Given the description of an element on the screen output the (x, y) to click on. 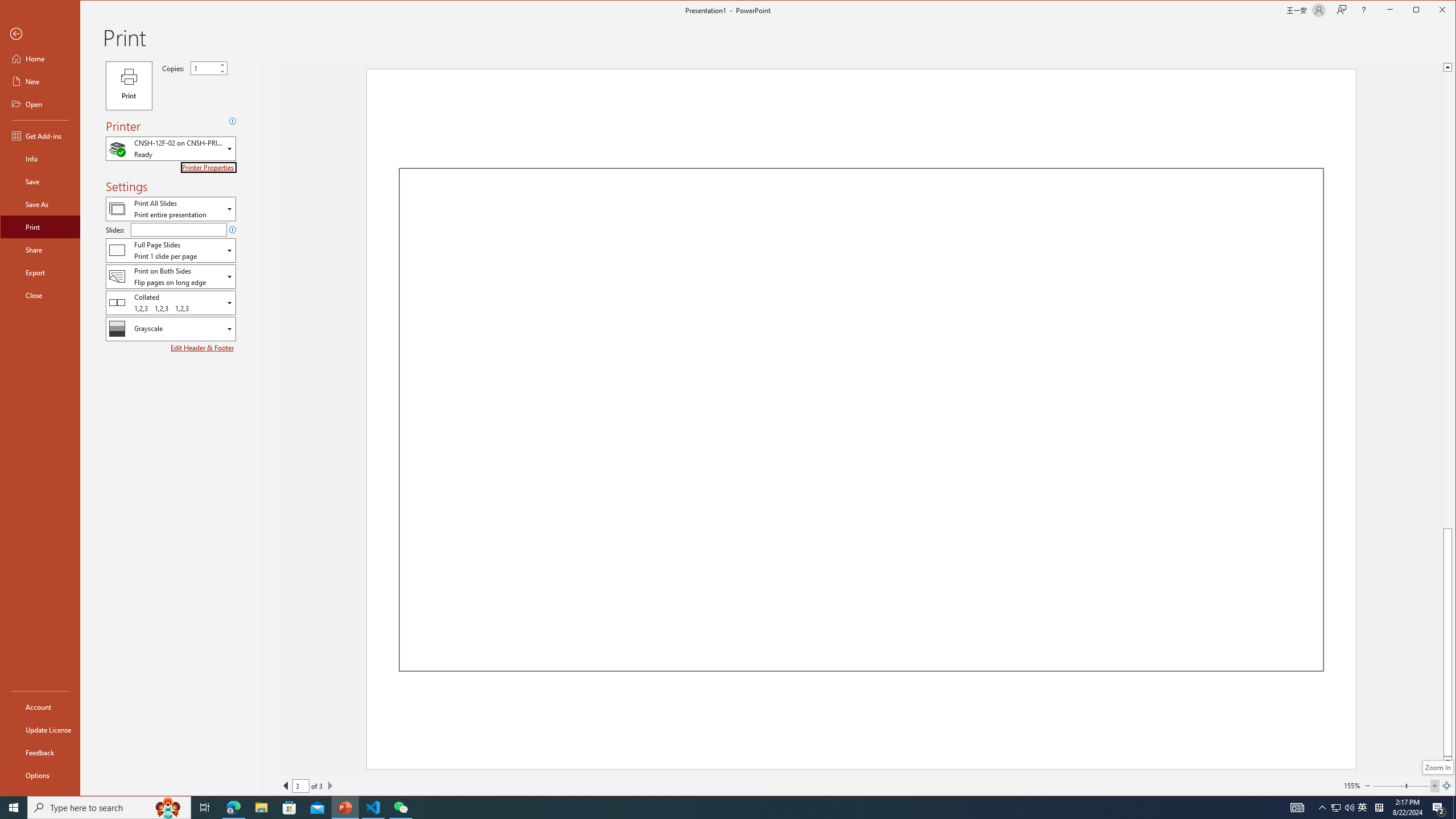
Color/Grayscale (170, 328)
Feedback (40, 752)
Maximize (1432, 11)
More (221, 64)
Tray Input Indicator - Chinese (Simplified, China) (1378, 807)
Get Add-ins (40, 135)
Next Page (329, 785)
Microsoft Edge - 1 running window (233, 807)
Export (1362, 807)
Options (40, 272)
